Given the description of an element on the screen output the (x, y) to click on. 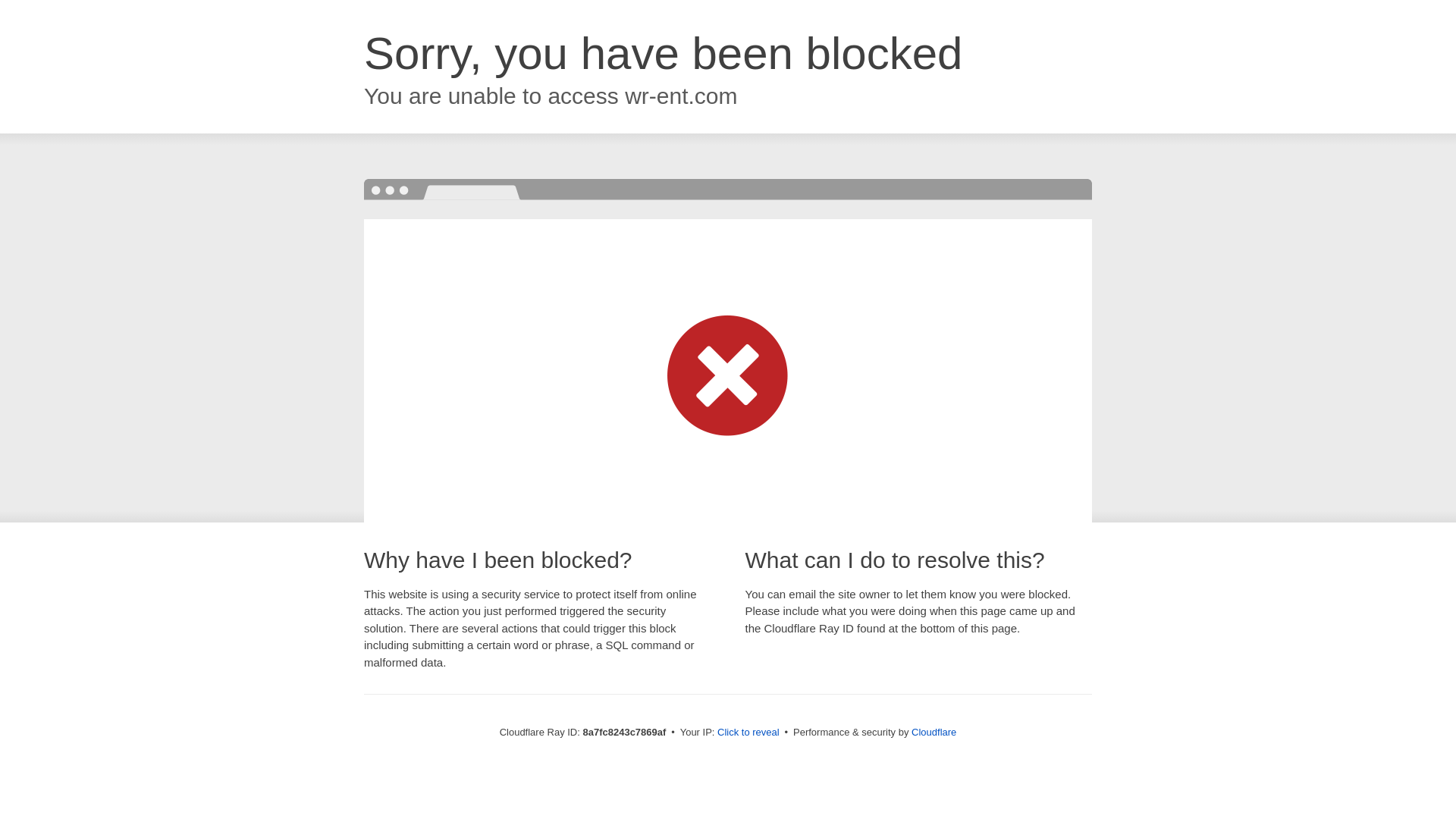
Cloudflare (933, 731)
Click to reveal (747, 732)
